Given the description of an element on the screen output the (x, y) to click on. 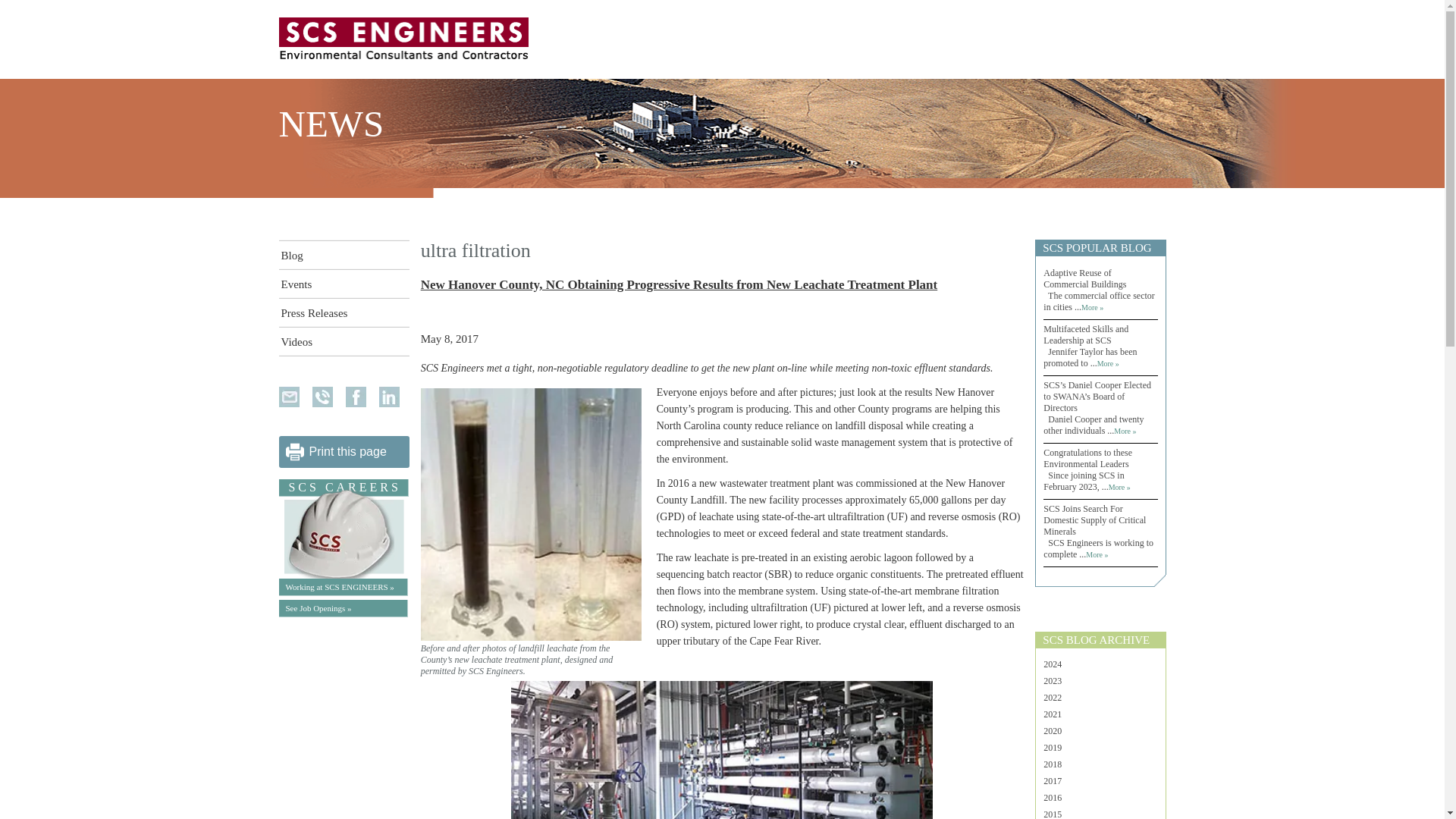
Share on Facebook (356, 396)
Share on LinkedIn (388, 396)
